Given the description of an element on the screen output the (x, y) to click on. 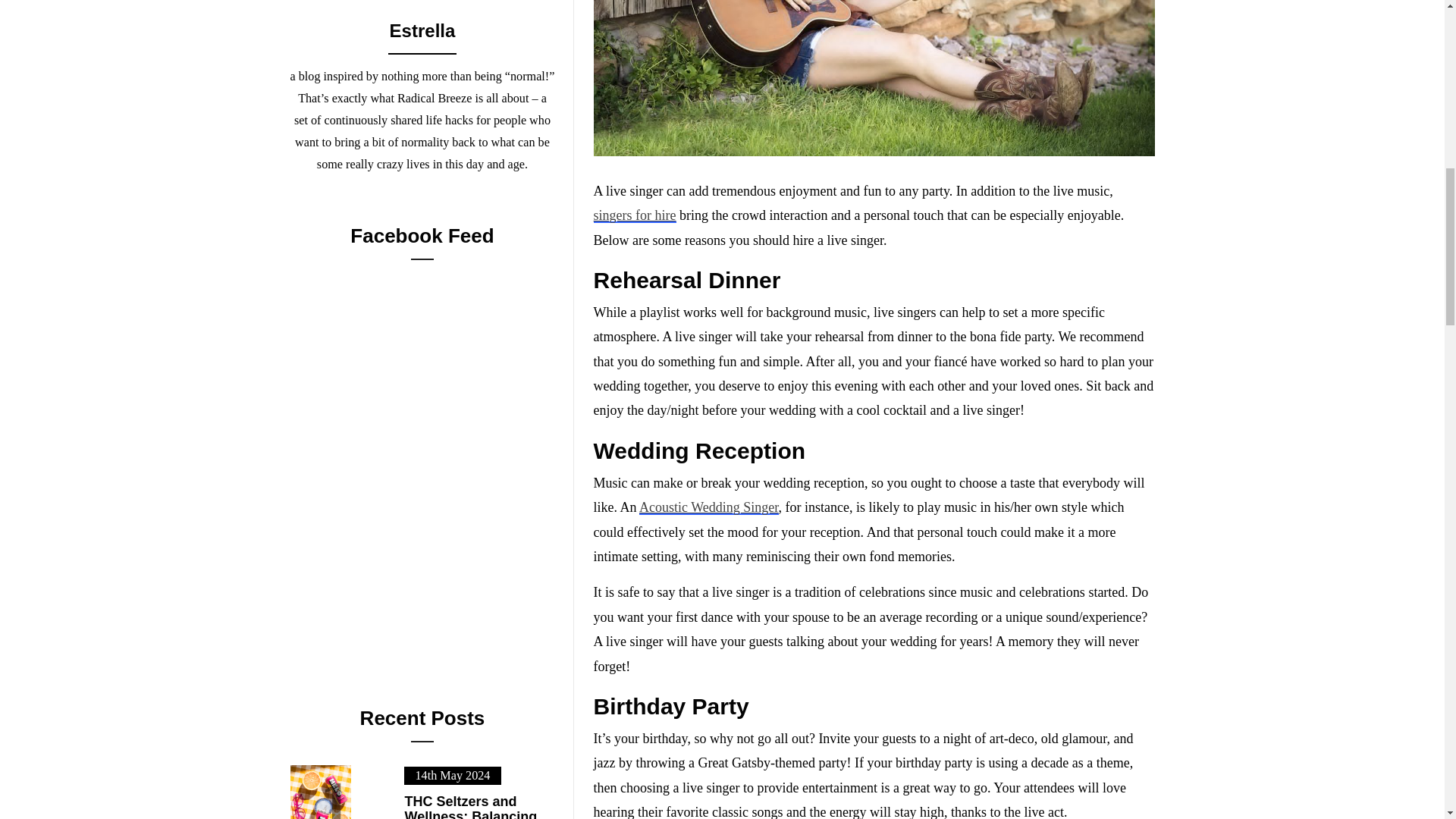
Acoustic Wedding Singer (708, 507)
singers for hire (635, 215)
